Given the description of an element on the screen output the (x, y) to click on. 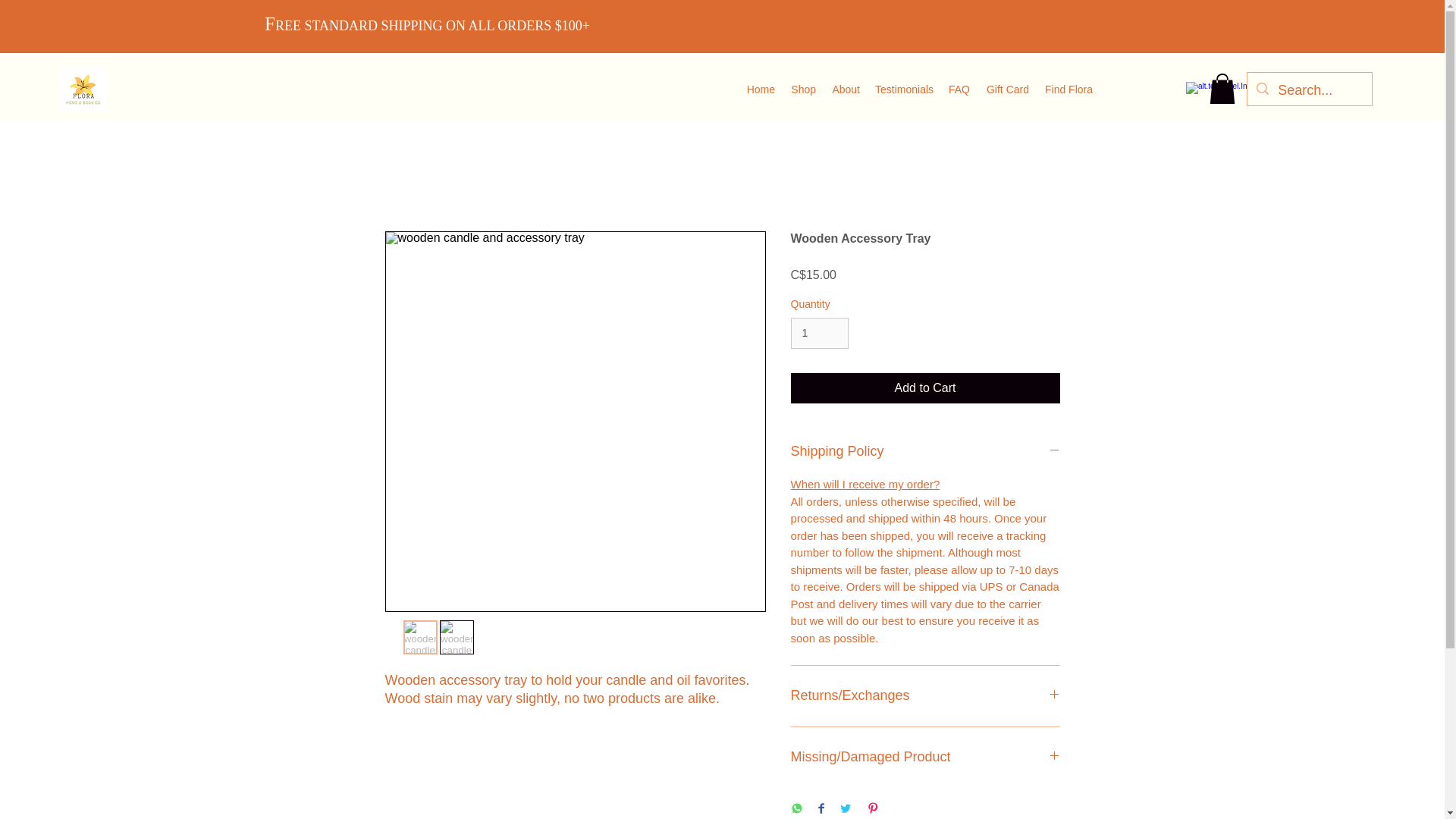
Gift Card (1006, 87)
1 (818, 332)
Shipping Policy (924, 451)
Home (760, 87)
FAQ (958, 87)
Testimonials (903, 87)
About (845, 87)
Shop (803, 87)
Add to Cart (924, 388)
